Given the description of an element on the screen output the (x, y) to click on. 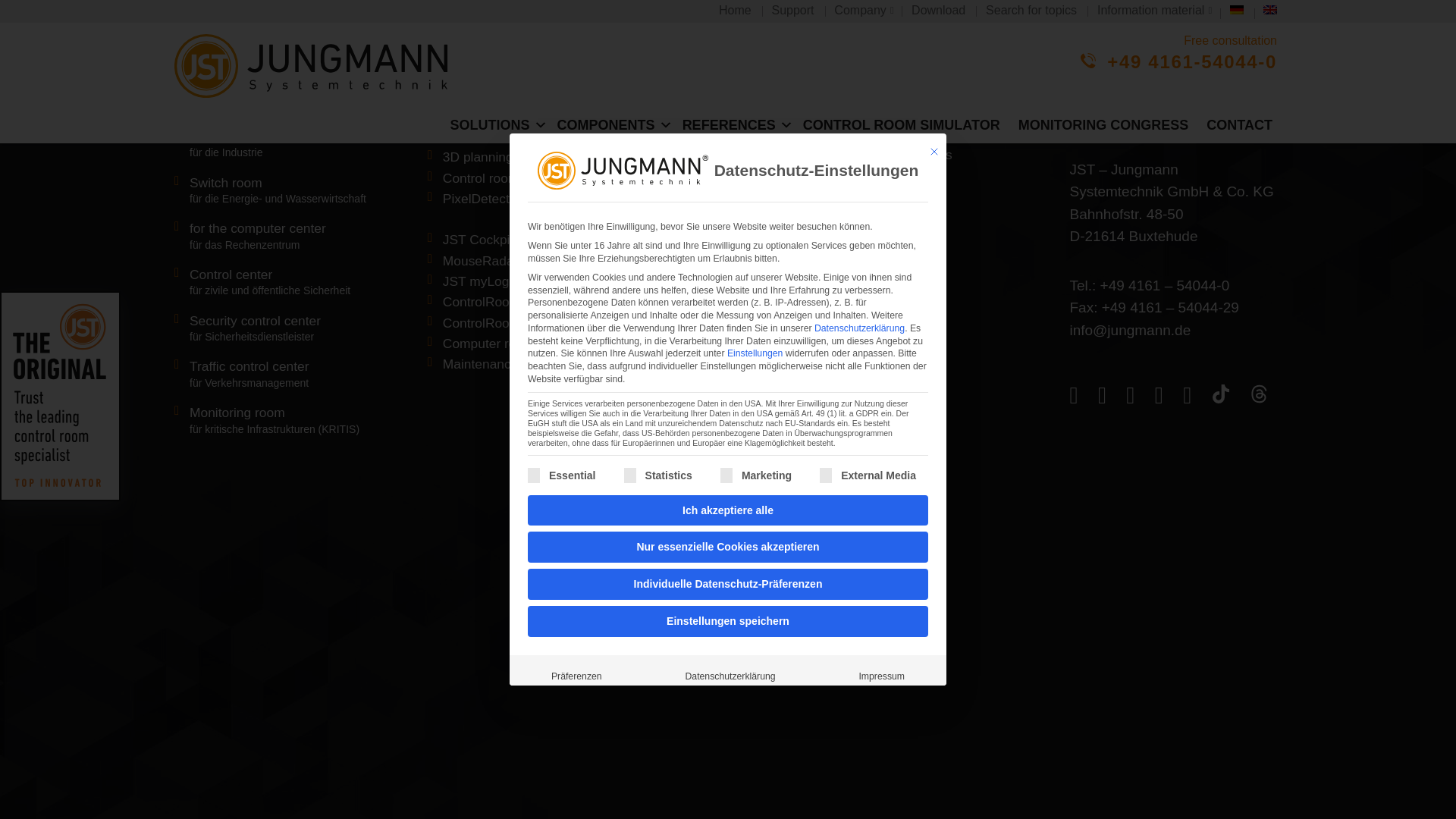
phone (1077, 95)
